Given the description of an element on the screen output the (x, y) to click on. 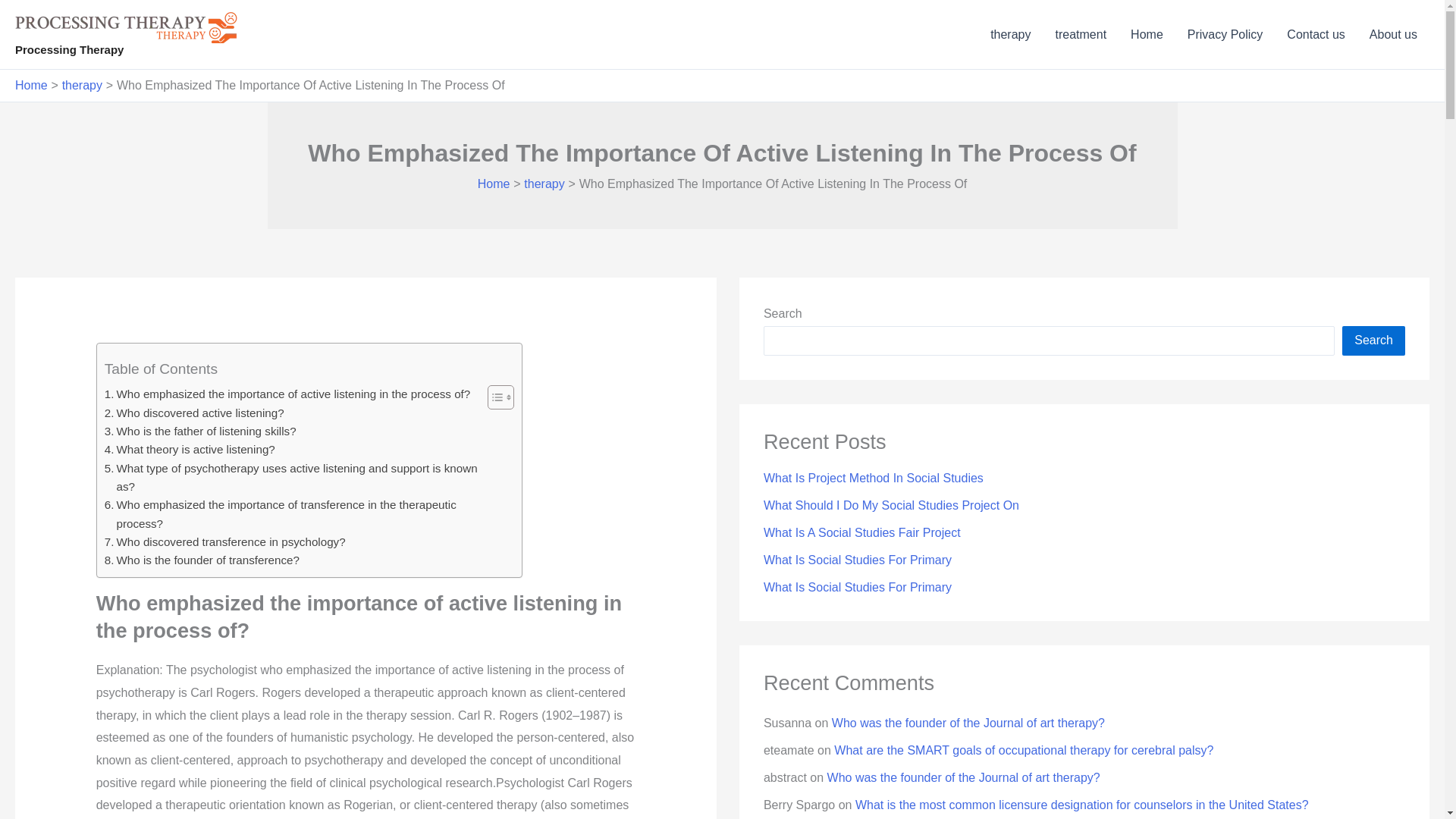
Contact us (1315, 34)
Who is the father of listening skills? (200, 431)
Home (1146, 34)
Home (31, 84)
What theory is active listening? (189, 449)
Home (494, 183)
Who is the founder of transference? (201, 560)
Who discovered active listening? (193, 413)
Privacy Policy (1224, 34)
